Given the description of an element on the screen output the (x, y) to click on. 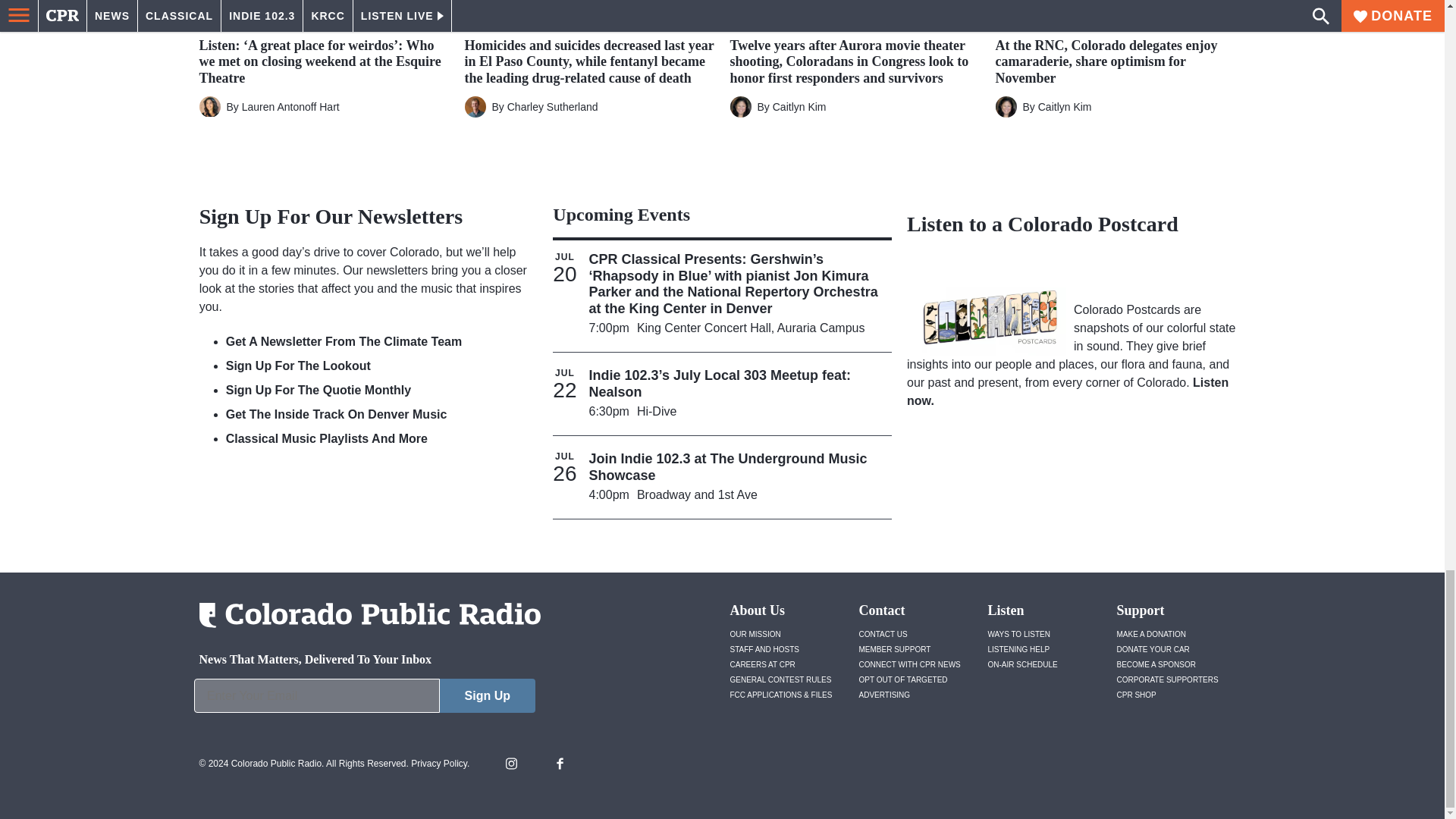
footer (364, 699)
